Given the description of an element on the screen output the (x, y) to click on. 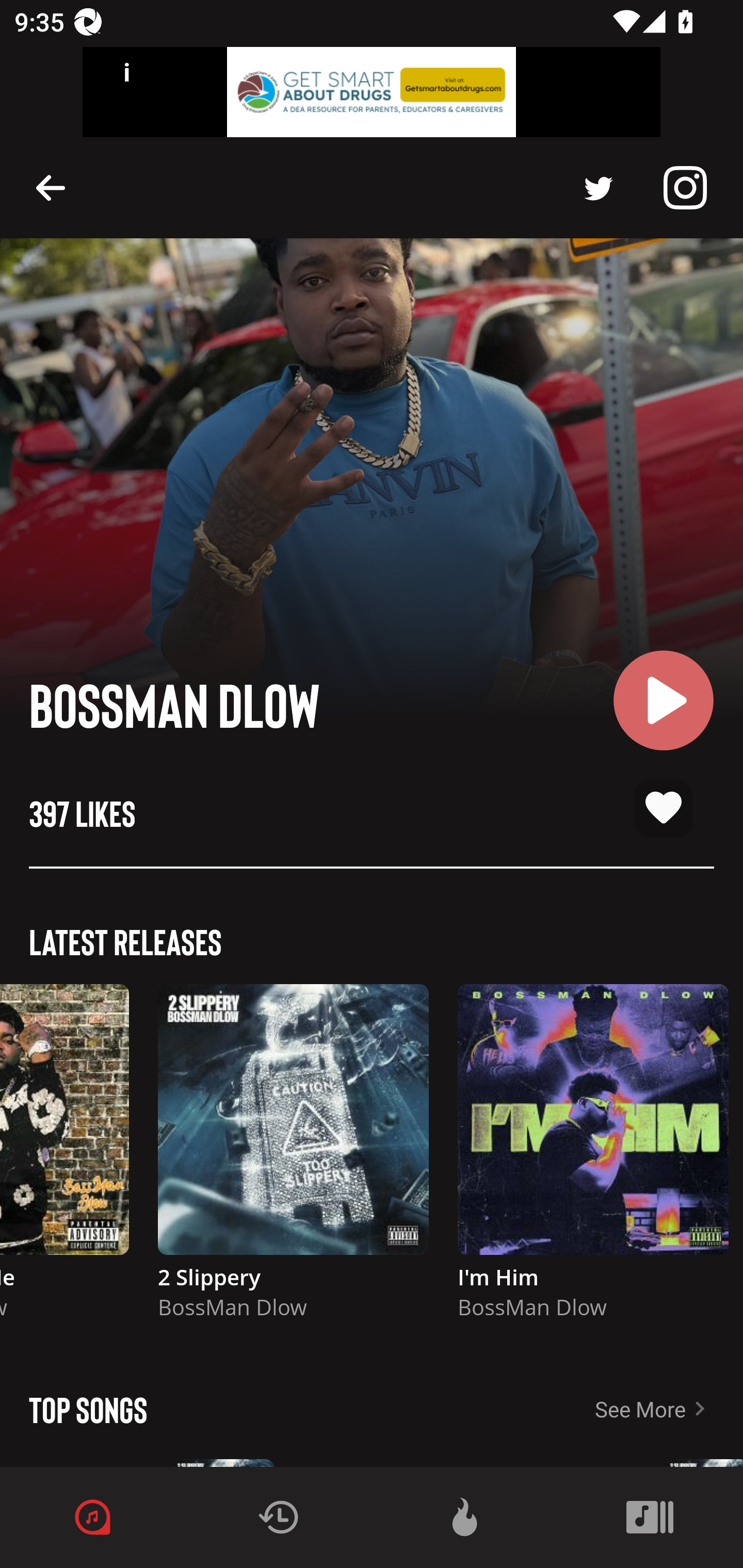
Description (50, 187)
Description (598, 188)
Description (684, 188)
Description 2 Slippery BossMan Dlow (293, 1159)
Description I'm Him BossMan Dlow (593, 1159)
See More (668, 1408)
